Given the description of an element on the screen output the (x, y) to click on. 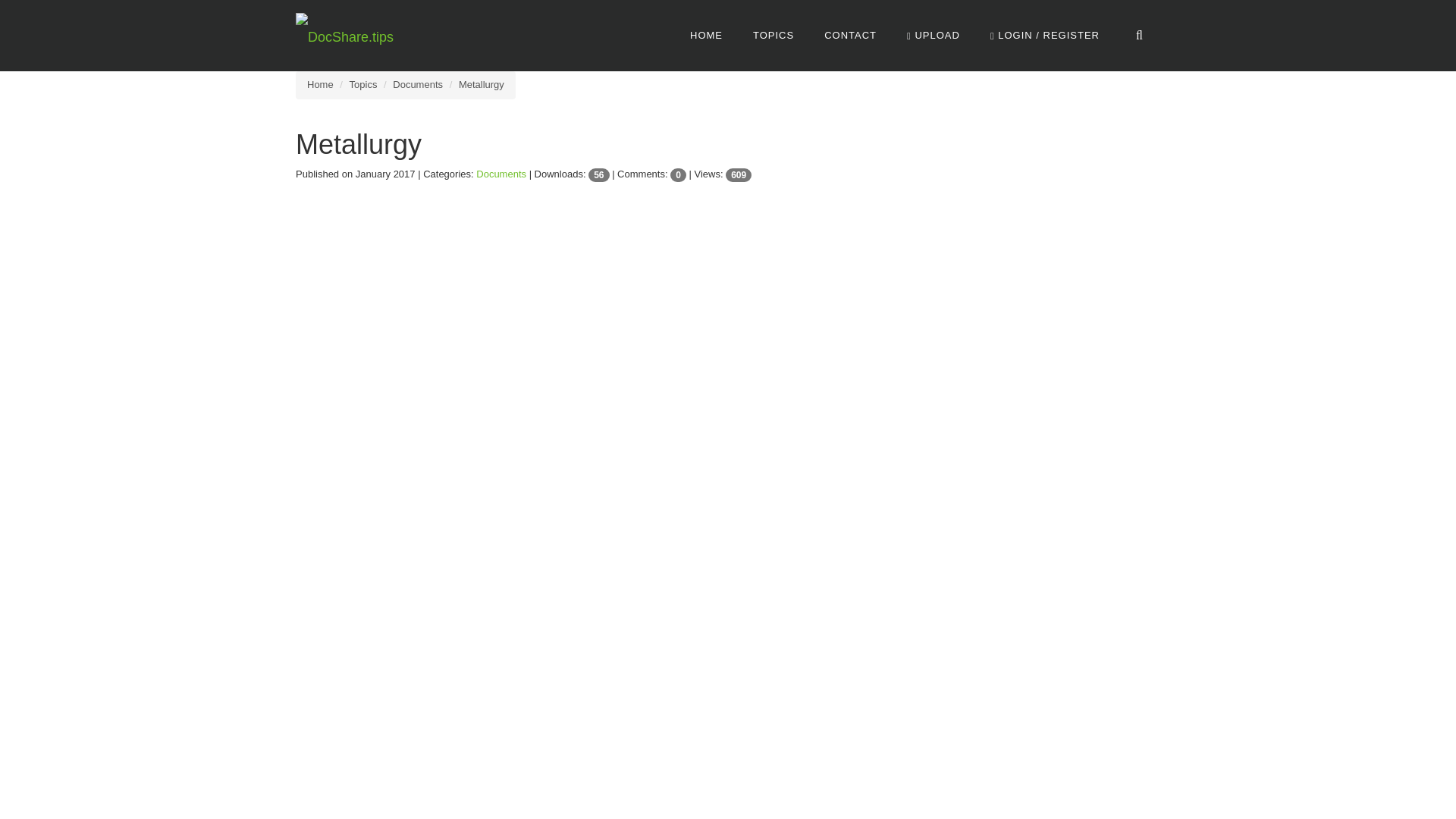
TOPICS (773, 35)
